Given the description of an element on the screen output the (x, y) to click on. 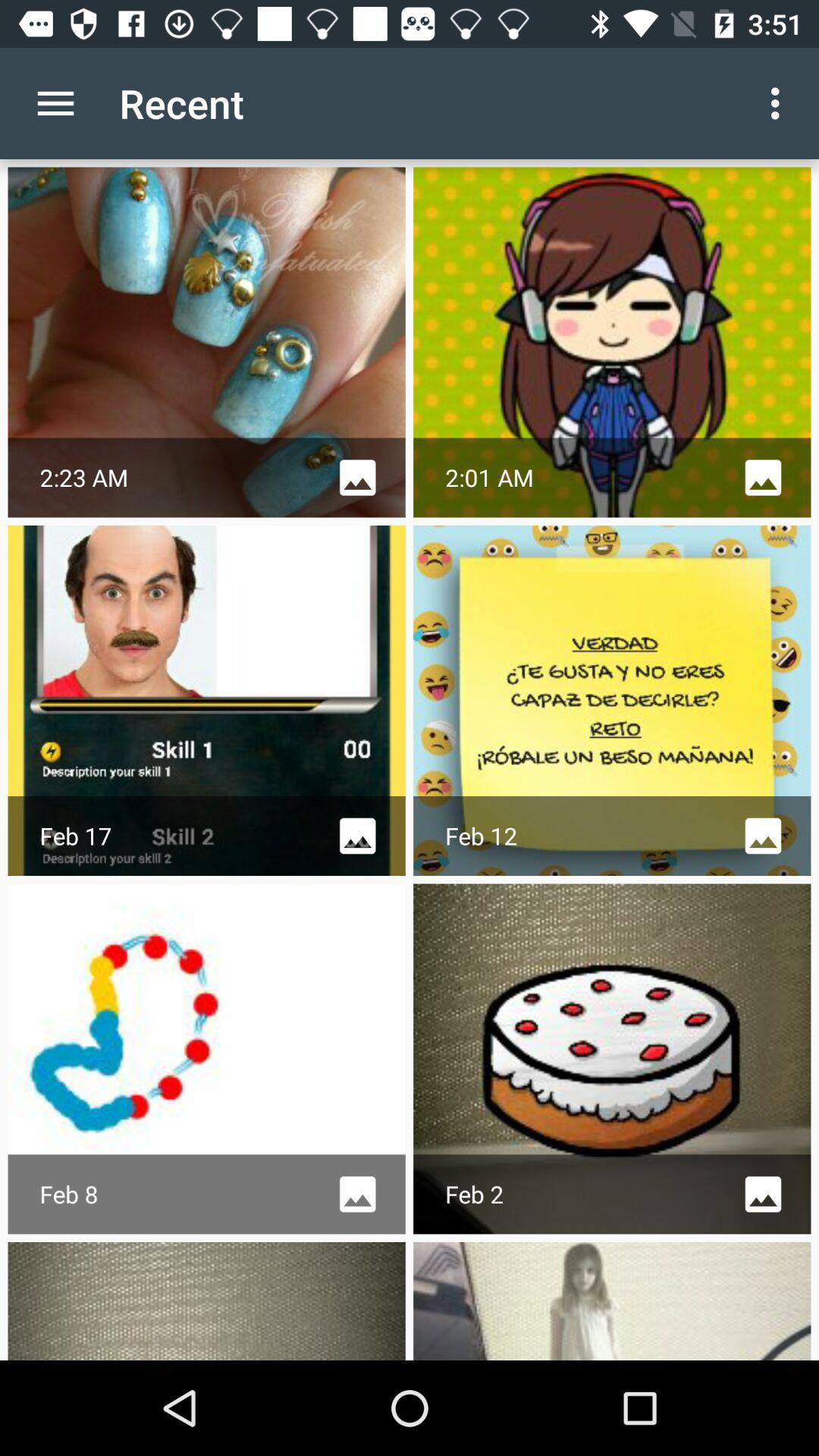
launch the icon to the right of the recent item (779, 103)
